Given the description of an element on the screen output the (x, y) to click on. 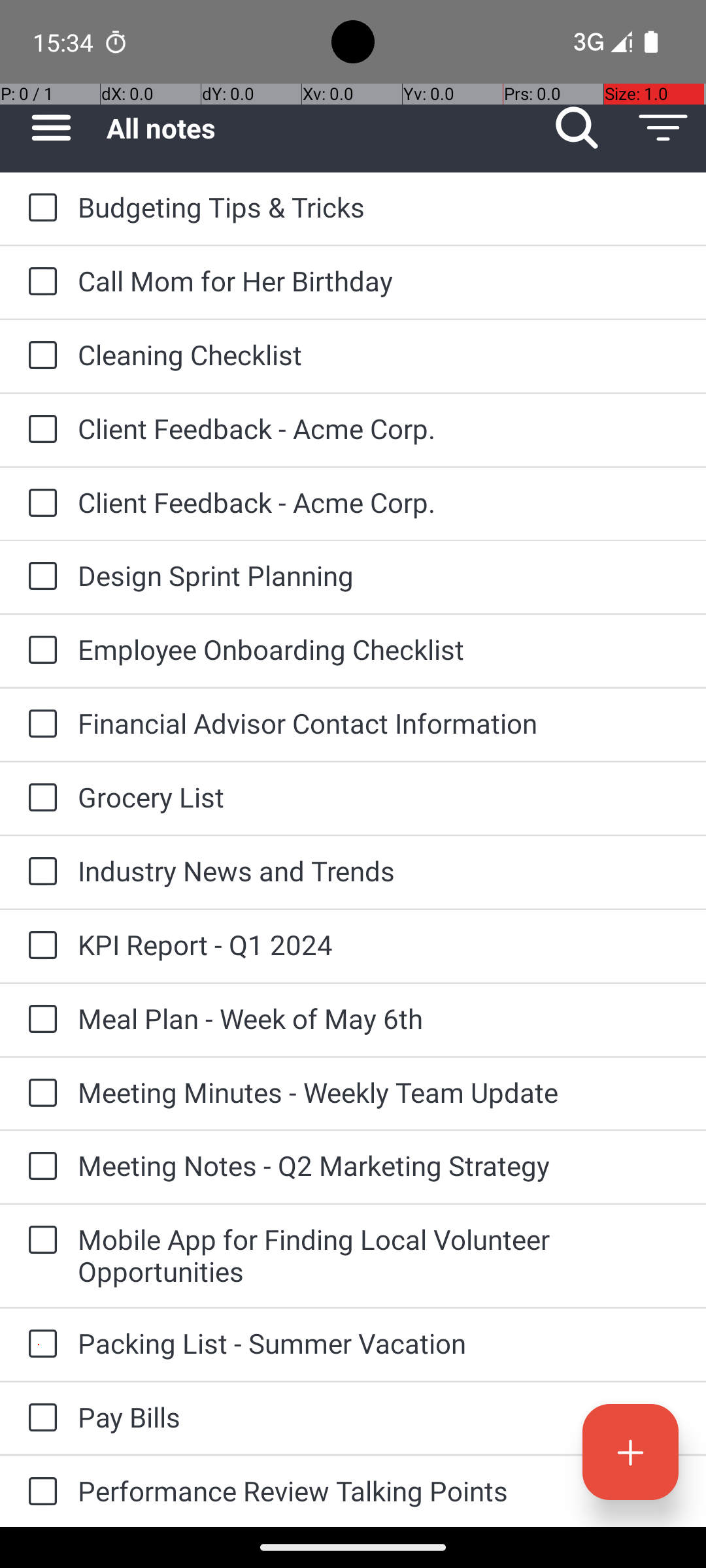
to-do: Budgeting Tips & Tricks Element type: android.widget.CheckBox (38, 208)
to-do: Call Mom for Her Birthday Element type: android.widget.CheckBox (38, 282)
Call Mom for Her Birthday Element type: android.widget.TextView (378, 280)
to-do: Cleaning Checklist Element type: android.widget.CheckBox (38, 356)
Cleaning Checklist Element type: android.widget.TextView (378, 354)
to-do: Client Feedback - Acme Corp. Element type: android.widget.CheckBox (38, 429)
Client Feedback - Acme Corp. Element type: android.widget.TextView (378, 427)
to-do: Design Sprint Planning Element type: android.widget.CheckBox (38, 576)
Design Sprint Planning Element type: android.widget.TextView (378, 574)
to-do: Employee Onboarding Checklist Element type: android.widget.CheckBox (38, 650)
Employee Onboarding Checklist Element type: android.widget.TextView (378, 648)
to-do: Grocery List Element type: android.widget.CheckBox (38, 798)
Grocery List Element type: android.widget.TextView (378, 796)
to-do: Industry News and Trends Element type: android.widget.CheckBox (38, 872)
Industry News and Trends Element type: android.widget.TextView (378, 870)
to-do: KPI Report - Q1 2024 Element type: android.widget.CheckBox (38, 945)
KPI Report - Q1 2024 Element type: android.widget.TextView (378, 944)
to-do: Meal Plan - Week of May 6th Element type: android.widget.CheckBox (38, 1019)
Meal Plan - Week of May 6th Element type: android.widget.TextView (378, 1017)
to-do: Meeting Minutes - Weekly Team Update Element type: android.widget.CheckBox (38, 1093)
Meeting Minutes - Weekly Team Update Element type: android.widget.TextView (378, 1091)
to-do: Meeting Notes - Q2 Marketing Strategy Element type: android.widget.CheckBox (38, 1166)
Meeting Notes - Q2 Marketing Strategy Element type: android.widget.TextView (378, 1164)
to-do: Mobile App for Finding Local Volunteer Opportunities Element type: android.widget.CheckBox (38, 1240)
Mobile App for Finding Local Volunteer Opportunities Element type: android.widget.TextView (378, 1254)
to-do: Packing List - Summer Vacation Element type: android.widget.CheckBox (38, 1344)
Packing List - Summer Vacation Element type: android.widget.TextView (378, 1342)
to-do: Pay Bills Element type: android.widget.CheckBox (38, 1418)
Pay Bills Element type: android.widget.TextView (378, 1416)
to-do: Performance Review Talking Points Element type: android.widget.CheckBox (38, 1491)
Performance Review Talking Points Element type: android.widget.TextView (378, 1490)
